Given the description of an element on the screen output the (x, y) to click on. 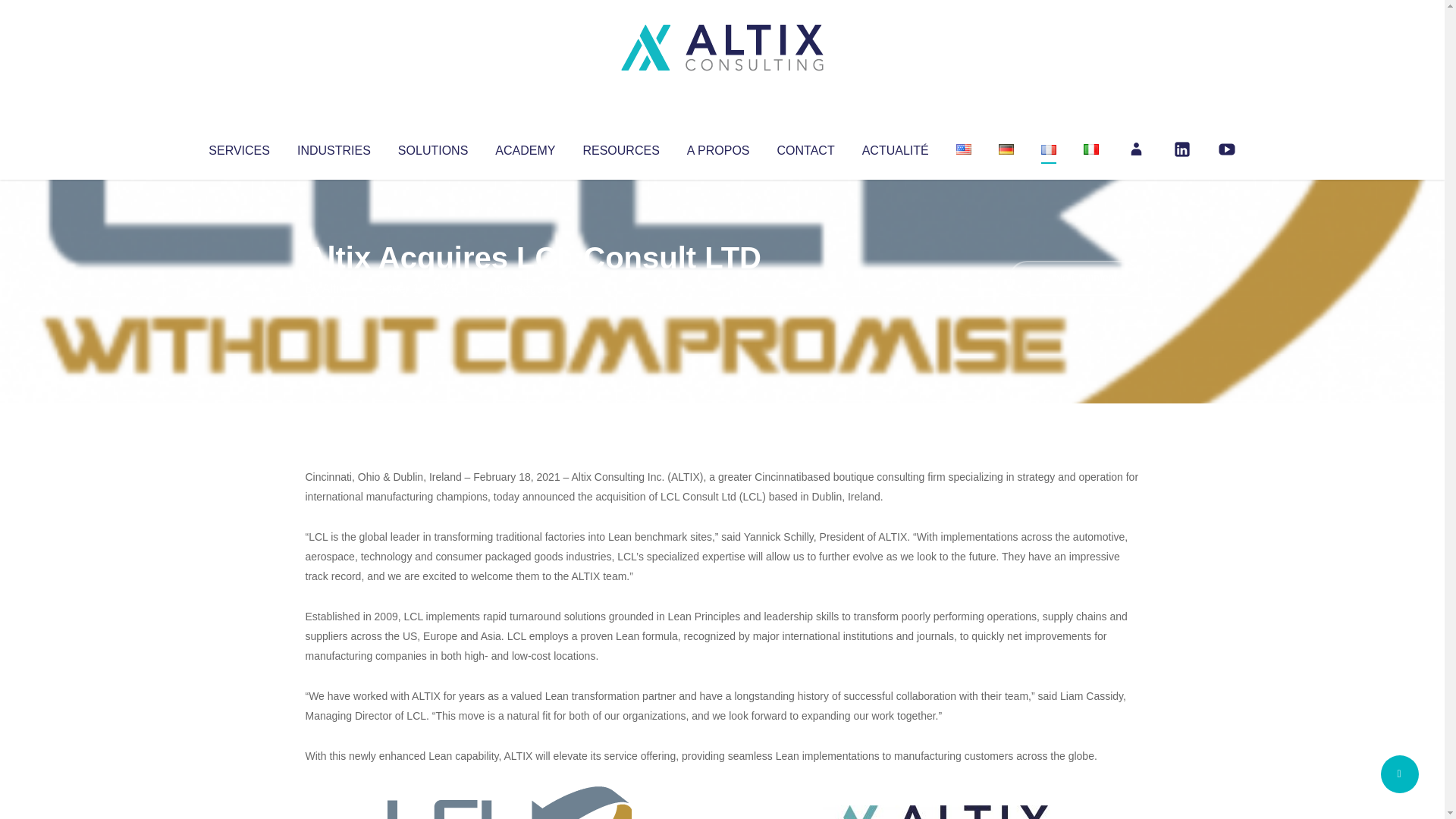
Altix (333, 287)
SERVICES (238, 146)
SOLUTIONS (432, 146)
RESOURCES (620, 146)
No Comments (1073, 278)
Uncategorized (530, 287)
ACADEMY (524, 146)
Articles par Altix (333, 287)
INDUSTRIES (334, 146)
A PROPOS (718, 146)
